Given the description of an element on the screen output the (x, y) to click on. 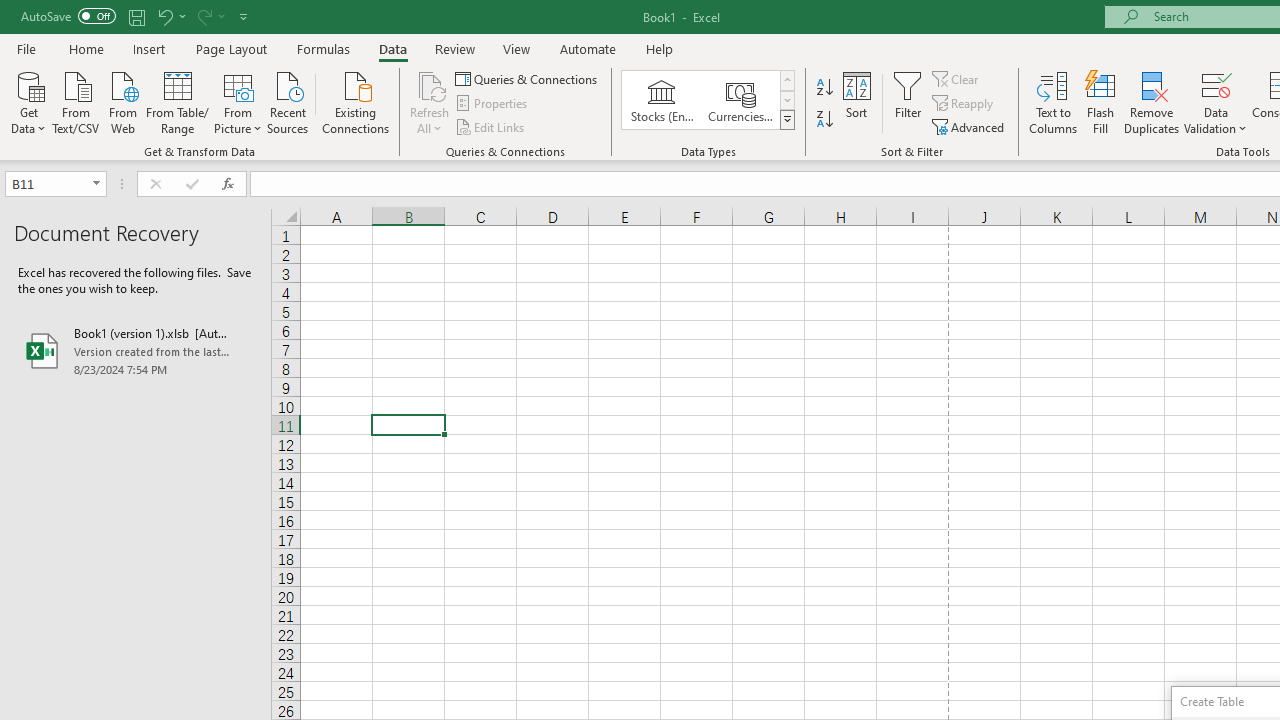
Data Validation... (1215, 102)
Currencies (English) (740, 100)
File Tab (26, 48)
Edit Links (491, 126)
Flash Fill (1101, 102)
Quick Access Toolbar (136, 16)
Get Data (28, 101)
Row up (786, 79)
Sort... (856, 102)
Redo (209, 15)
Properties (492, 103)
Customize Quick Access Toolbar (244, 15)
Sort A to Z (824, 87)
Text to Columns... (1053, 102)
Row Down (786, 100)
